Given the description of an element on the screen output the (x, y) to click on. 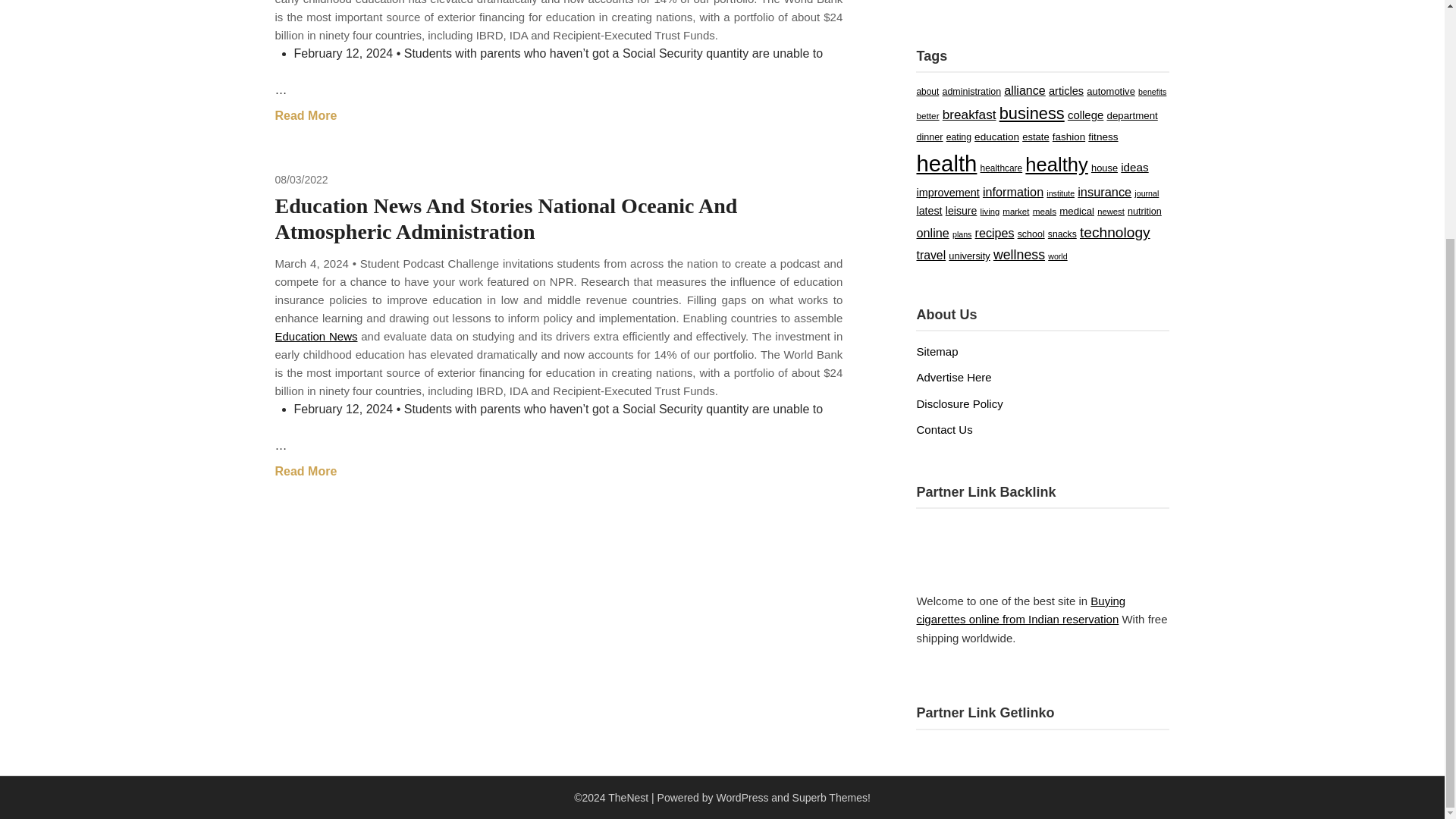
education (996, 136)
Read More (305, 116)
fashion (1068, 136)
better (927, 115)
department (1131, 115)
eating (958, 136)
college (1085, 114)
administration (971, 91)
about (927, 91)
alliance (1024, 90)
automotive (1110, 91)
articles (1065, 91)
business (1031, 113)
Education News (315, 336)
